Given the description of an element on the screen output the (x, y) to click on. 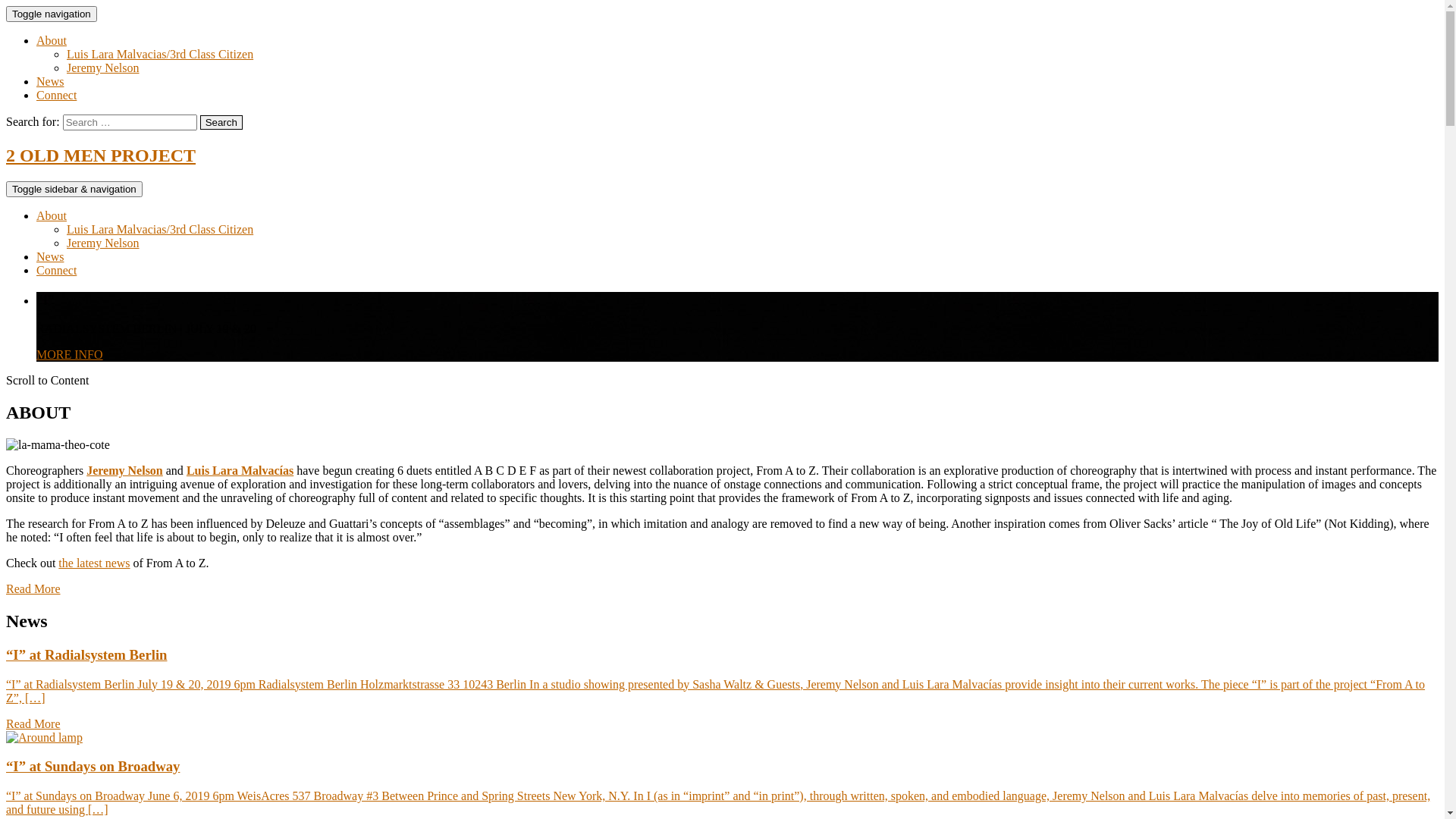
MORE INFO Element type: text (69, 354)
Jeremy Nelson Element type: text (102, 242)
Luis Lara Malvacias/3rd Class Citizen Element type: text (159, 53)
2 OLD MEN PROJECT Element type: text (100, 155)
Toggle sidebar & navigation Element type: text (74, 189)
Read More Element type: text (33, 588)
Connect Element type: text (56, 269)
News Element type: text (49, 256)
Luis Lara Malvacias/3rd Class Citizen Element type: text (159, 228)
Jeremy Nelson Element type: text (102, 67)
About Element type: text (51, 215)
Search Element type: text (221, 122)
Toggle navigation Element type: text (51, 13)
News Element type: text (49, 81)
Jeremy Nelson Element type: text (124, 470)
the latest news Element type: text (93, 562)
Connect Element type: text (56, 94)
About Element type: text (51, 40)
